Given the description of an element on the screen output the (x, y) to click on. 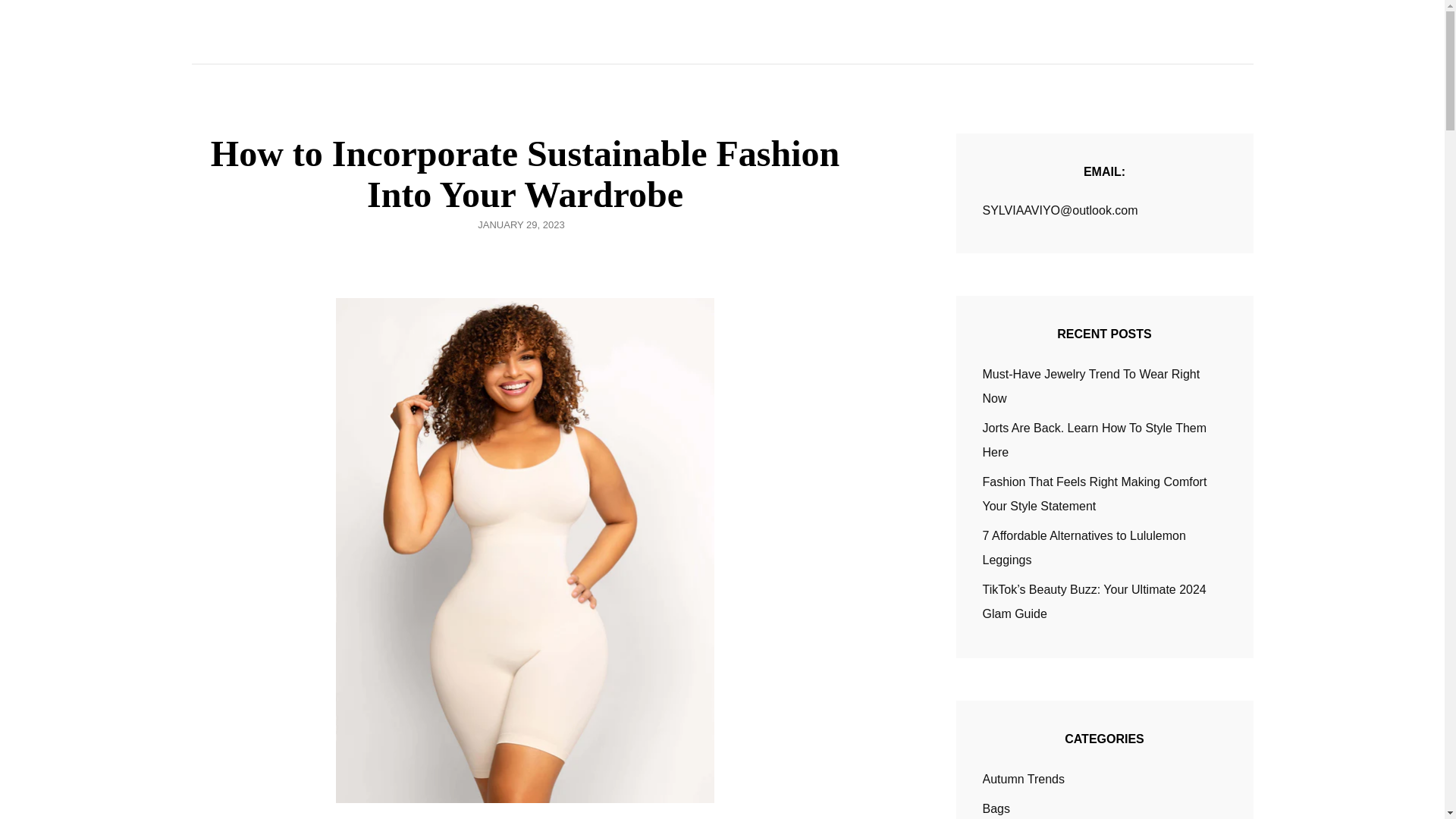
7 Affordable Alternatives to Lululemon Leggings (1084, 547)
JANUARY 29, 2023 (520, 224)
Fashion That Feels Right Making Comfort Your Style Statement (1094, 493)
Autumn Trends (1023, 779)
Bags (996, 807)
Must-Have Jewelry Trend To Wear Right Now (1090, 385)
Jorts Are Back. Learn How To Style Them Here (1094, 439)
